Given the description of an element on the screen output the (x, y) to click on. 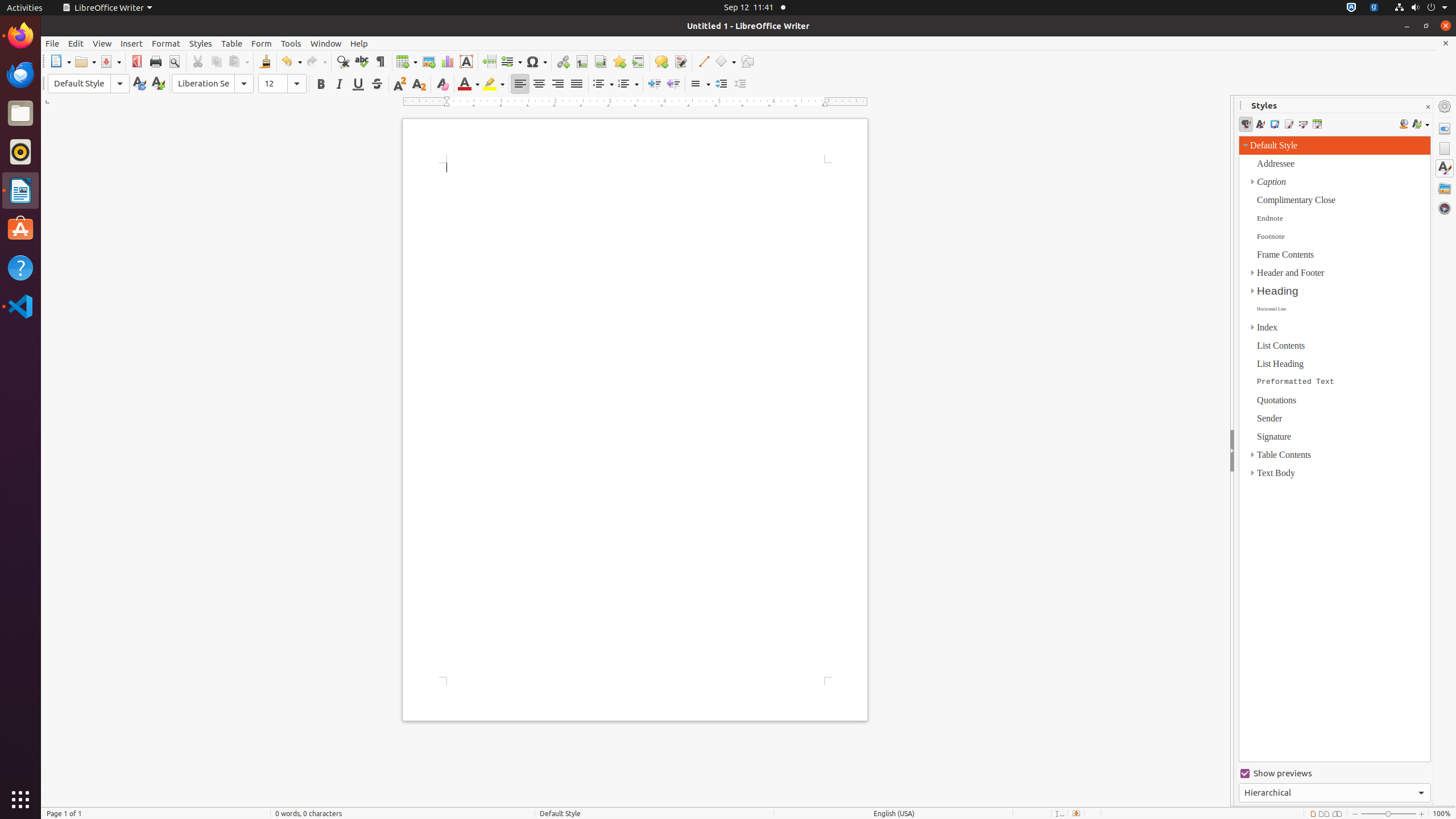
Image Element type: push-button (428, 61)
Field Element type: push-button (510, 61)
Ubuntu Software Element type: push-button (20, 229)
Styles Element type: panel (1334, 458)
Paste Element type: push-button (237, 61)
